Given the description of an element on the screen output the (x, y) to click on. 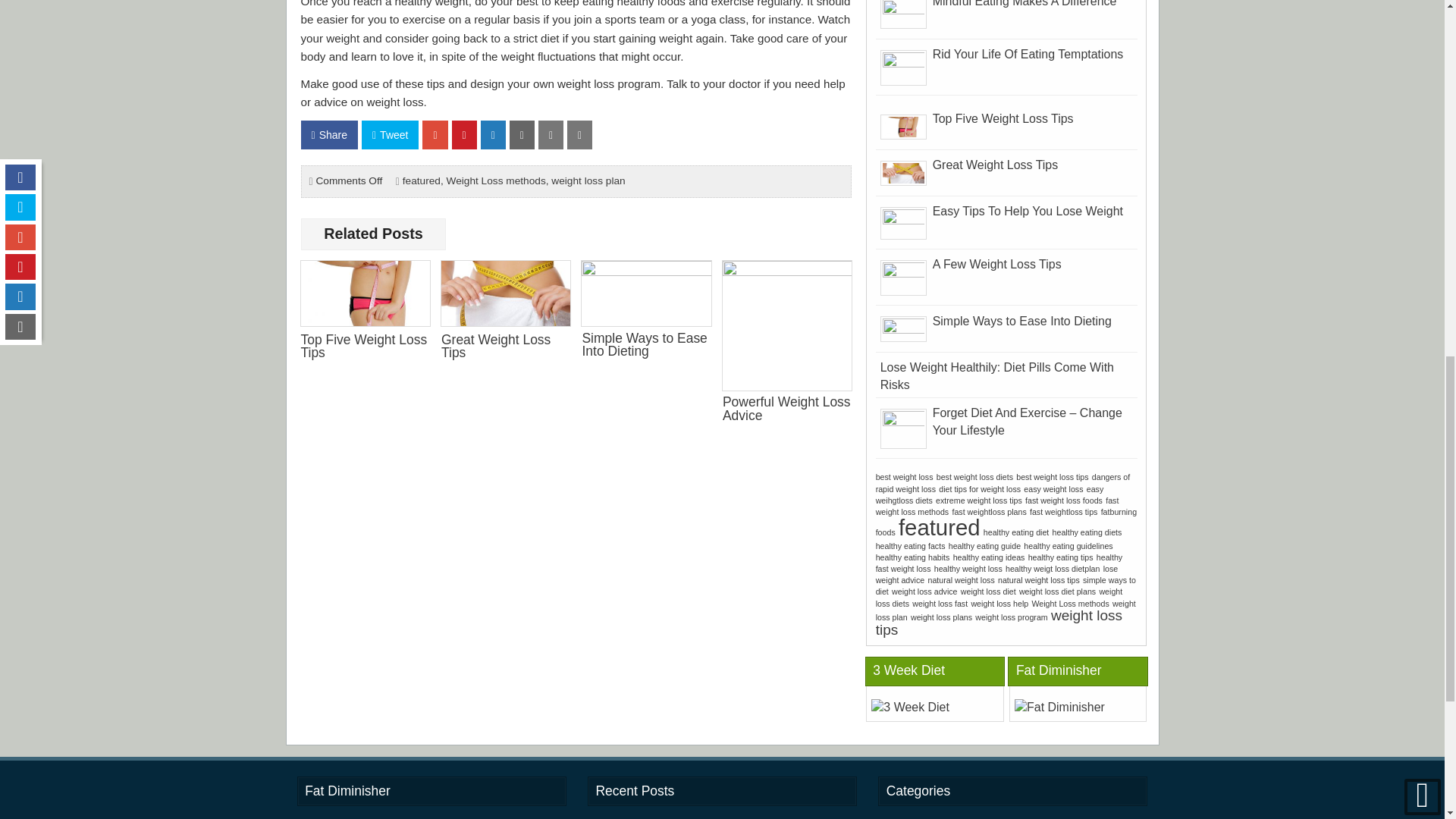
Share On Facebook (327, 134)
Tweet on Twitter (390, 134)
Share (327, 134)
Tweet (390, 134)
